Given the description of an element on the screen output the (x, y) to click on. 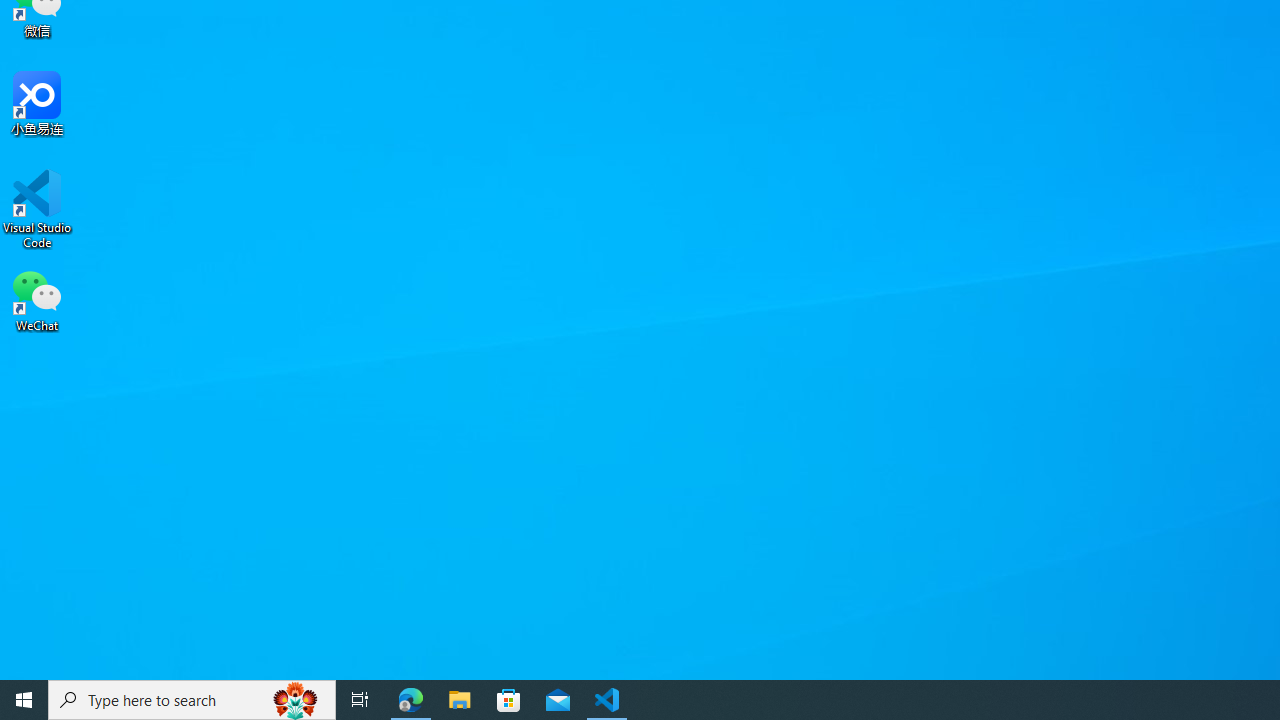
Visual Studio Code (37, 209)
WeChat (37, 299)
